Given the description of an element on the screen output the (x, y) to click on. 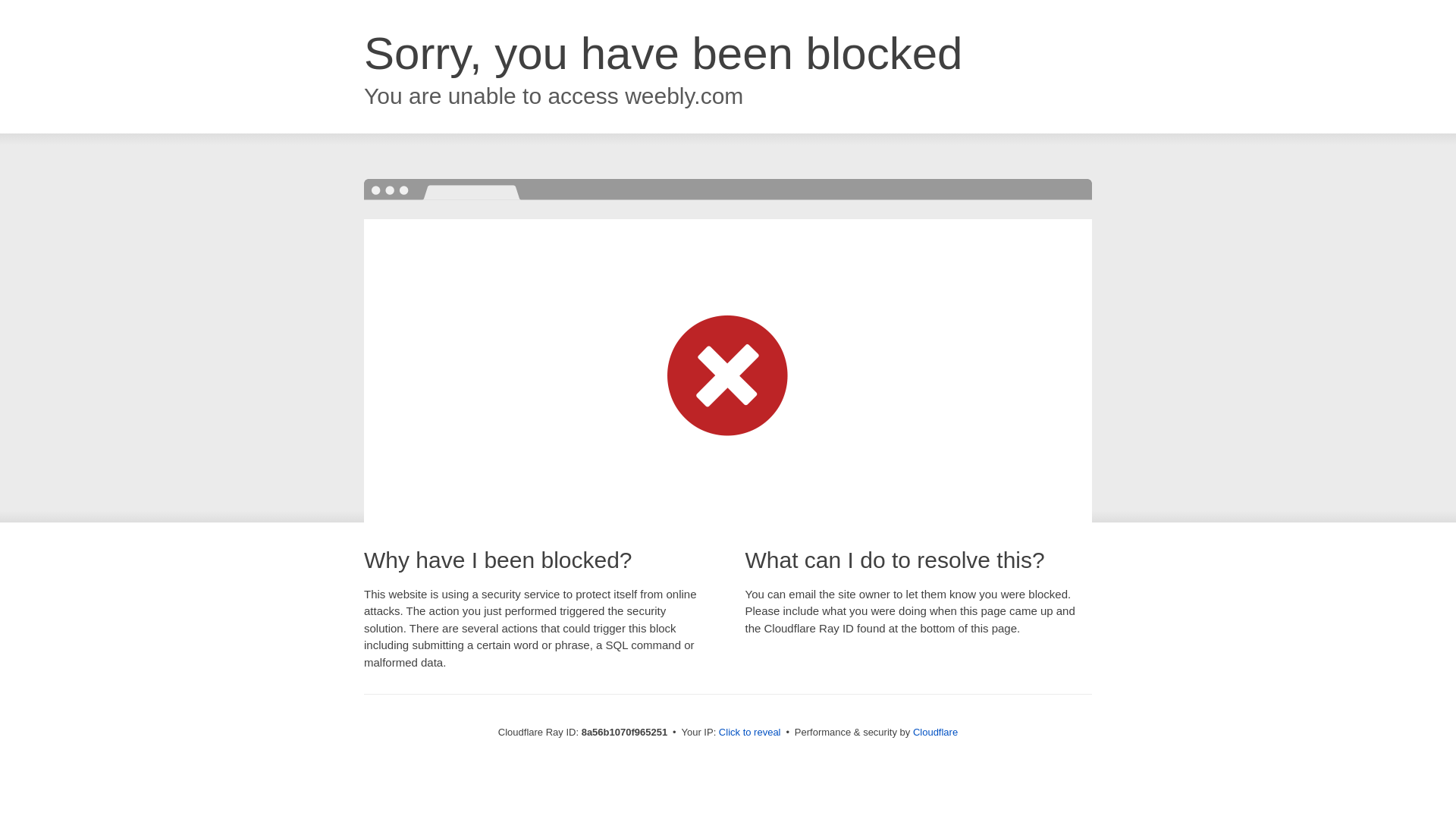
Cloudflare (935, 731)
Click to reveal (749, 732)
